Given the description of an element on the screen output the (x, y) to click on. 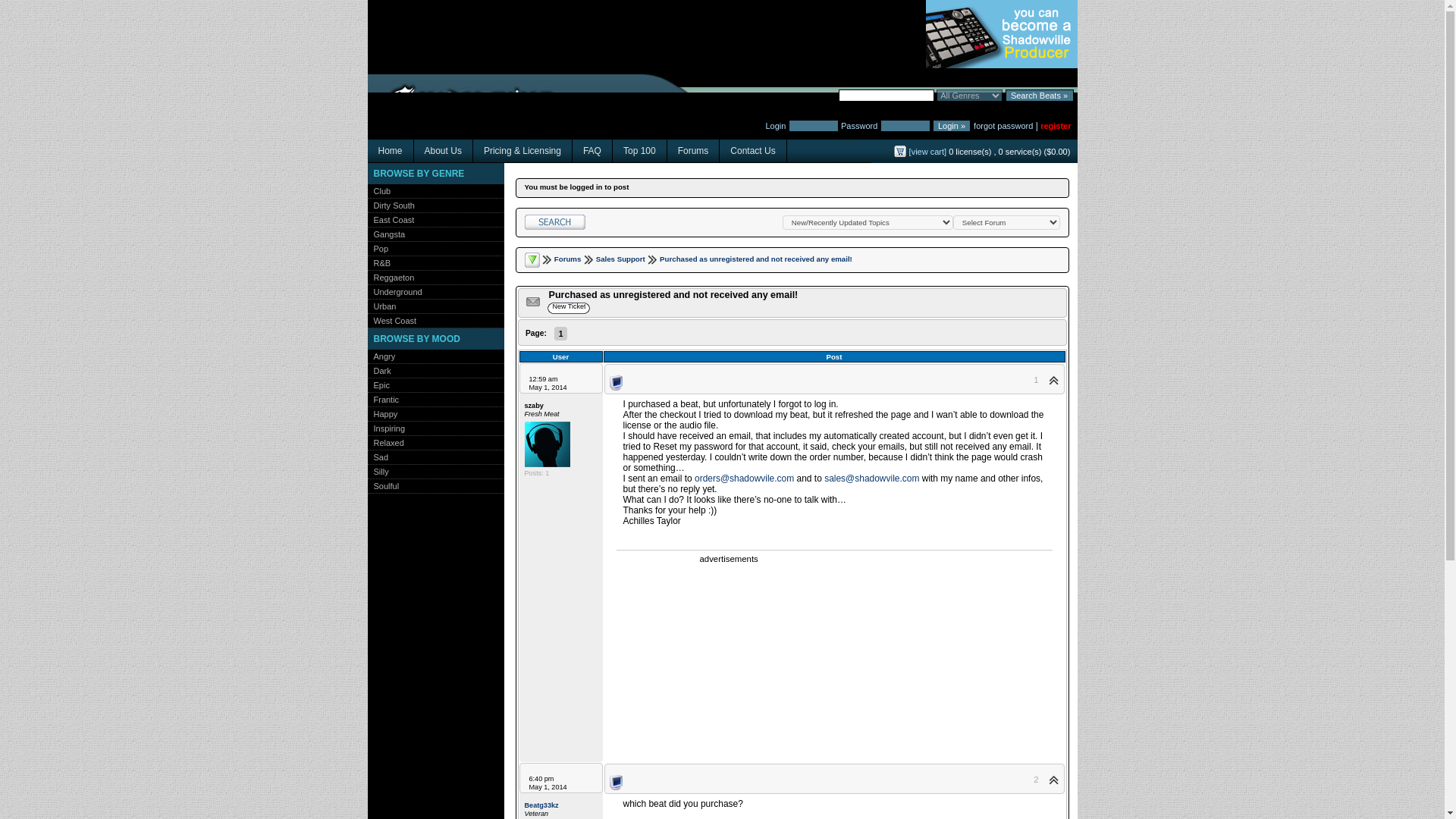
Contact Us (752, 150)
Home (389, 150)
Top 100 Beats (639, 150)
Community Forums (693, 150)
Contact Us (752, 150)
Sad (377, 456)
Gangsta Beats (385, 234)
Inspiring (385, 428)
East Coast (389, 219)
Angry (380, 356)
Soulful (382, 485)
Urban (381, 306)
Pop (377, 248)
Silly (377, 470)
Underground (394, 291)
